Given the description of an element on the screen output the (x, y) to click on. 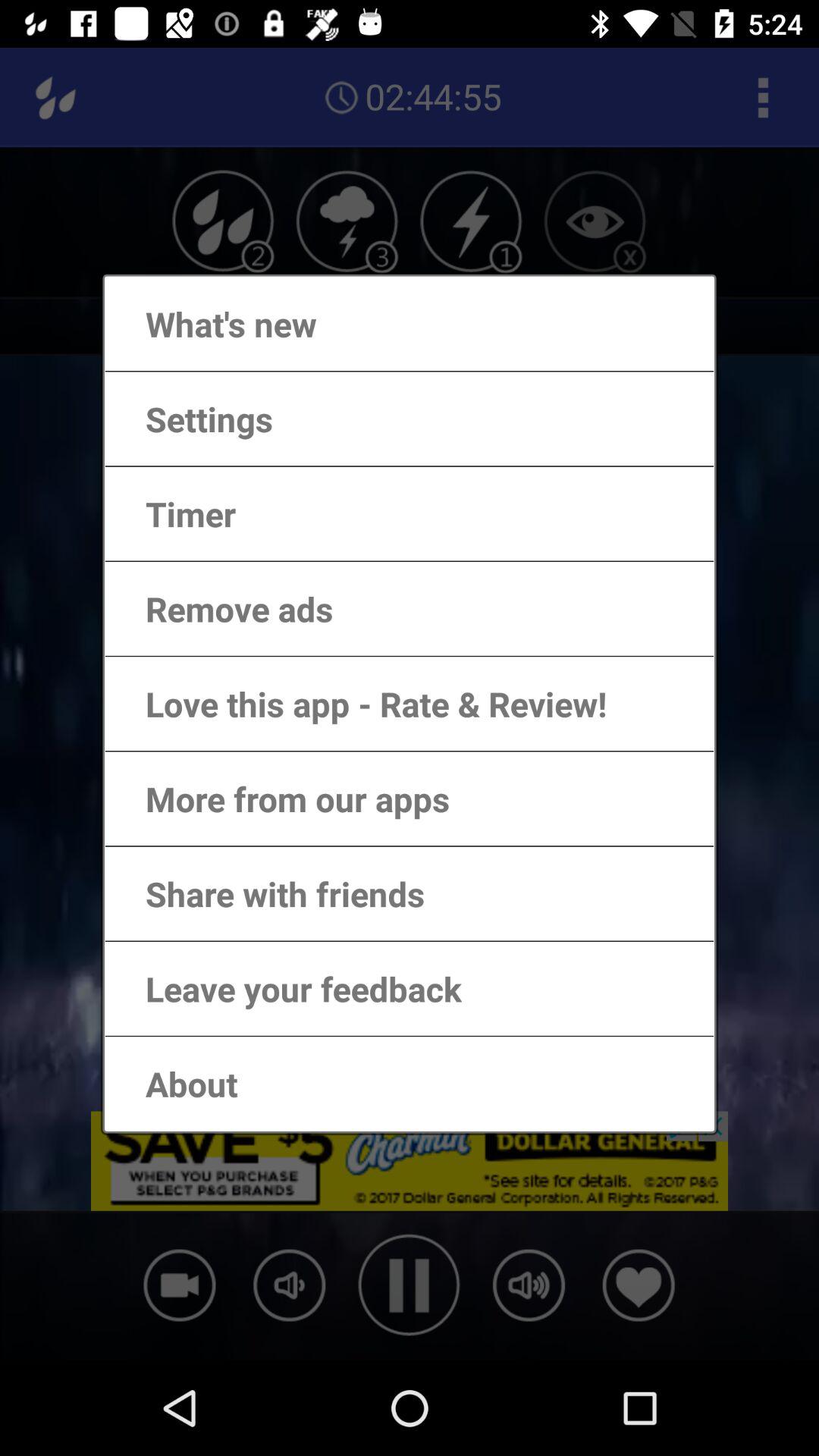
select the icon above the settings app (215, 323)
